Given the description of an element on the screen output the (x, y) to click on. 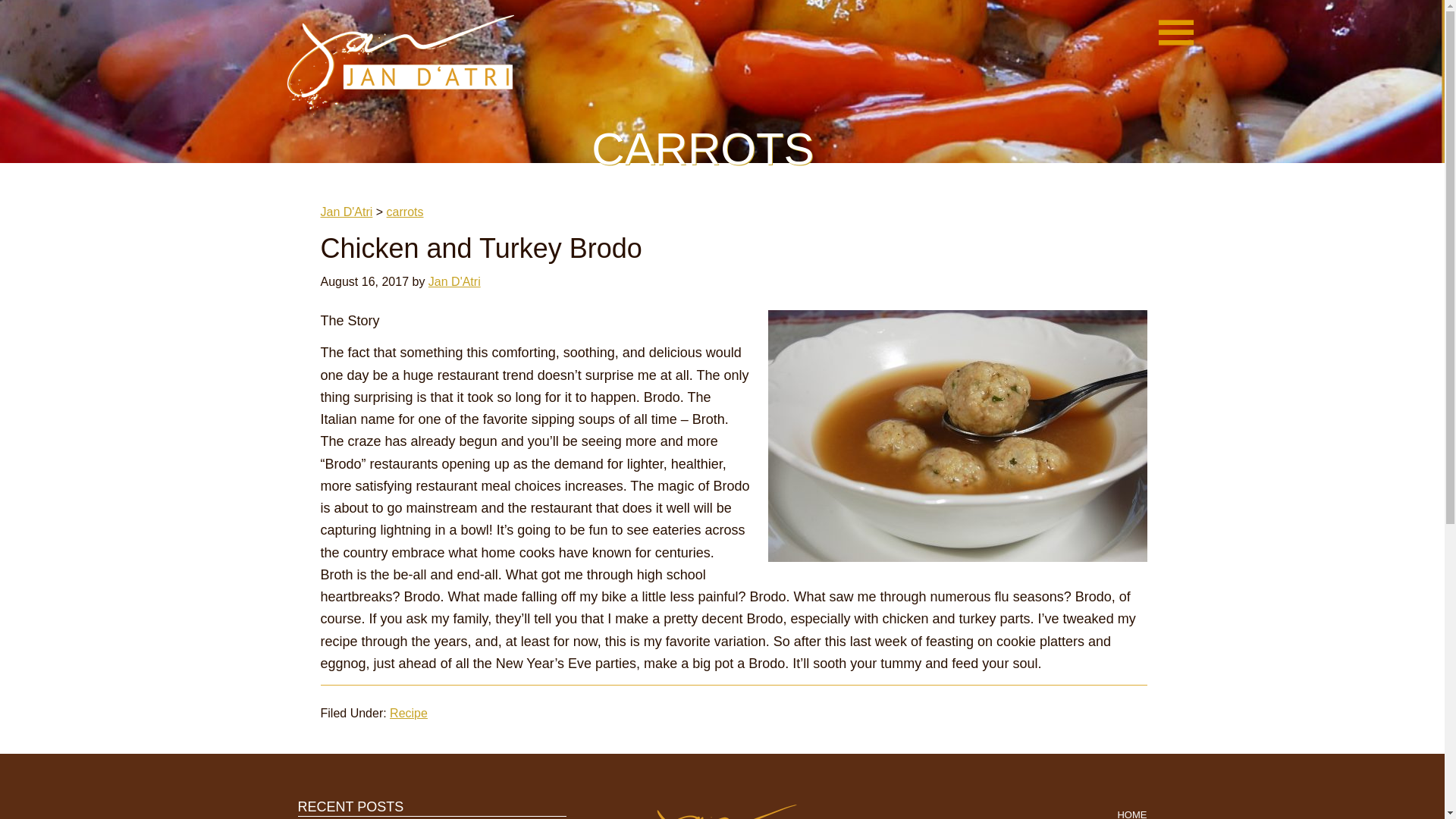
Go to Jan D'Atri. (346, 211)
Go to the carrots Ingredient archives. (405, 211)
Jan D'Atri (454, 281)
Jan D'Atri (399, 64)
Chicken and Turkey Brodo (481, 247)
carrots (405, 211)
Jan D'Atri (346, 211)
Jan D'Atri Logo (721, 809)
Recipe (409, 712)
